Given the description of an element on the screen output the (x, y) to click on. 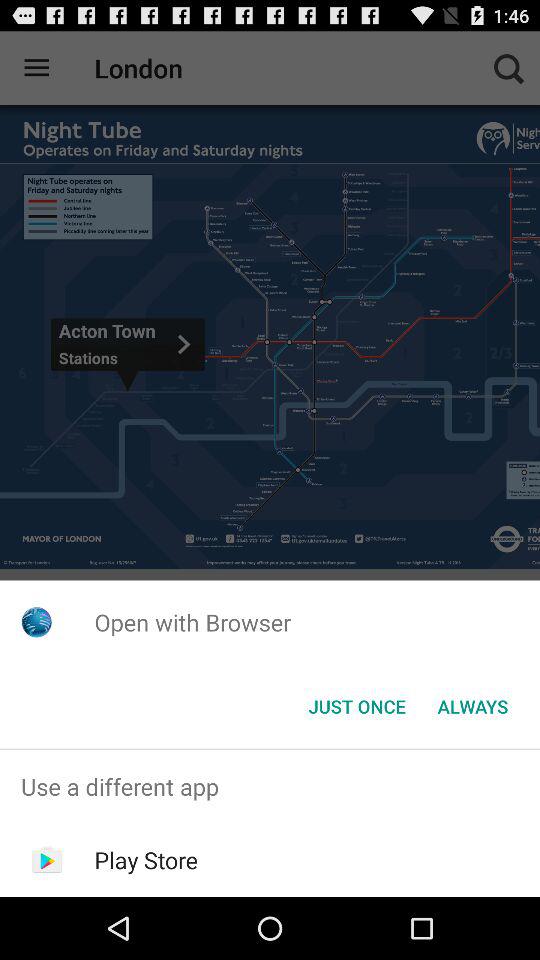
launch the item at the bottom right corner (472, 706)
